Given the description of an element on the screen output the (x, y) to click on. 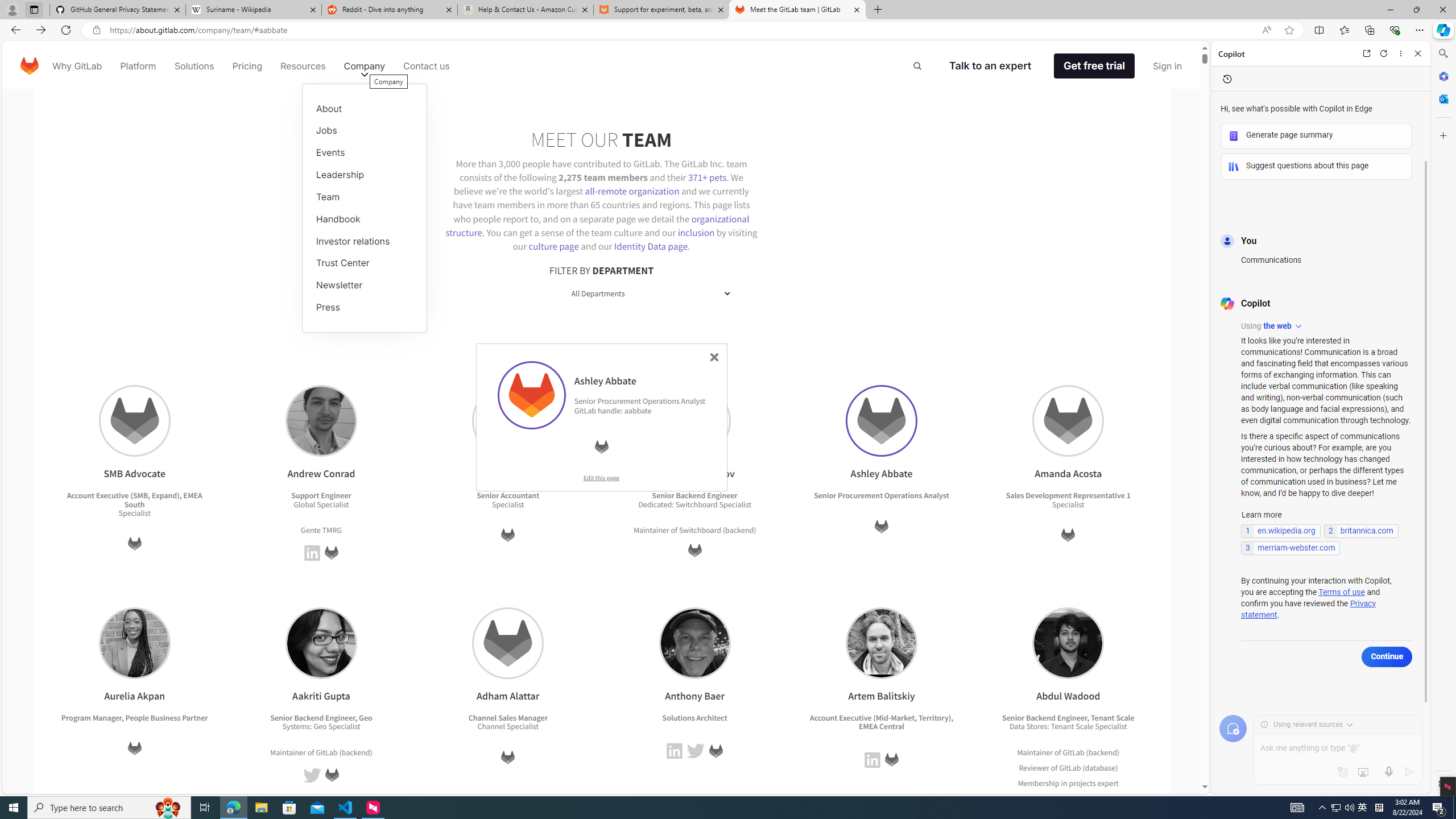
GitLab (1069, 767)
Channel Sales Manager (507, 717)
Suriname - Wikipedia (253, 9)
Ashley Abbate (881, 420)
Account Executive (SMB, Expand), EMEA South (134, 499)
Membership in groups expert (1067, 797)
